Given the description of an element on the screen output the (x, y) to click on. 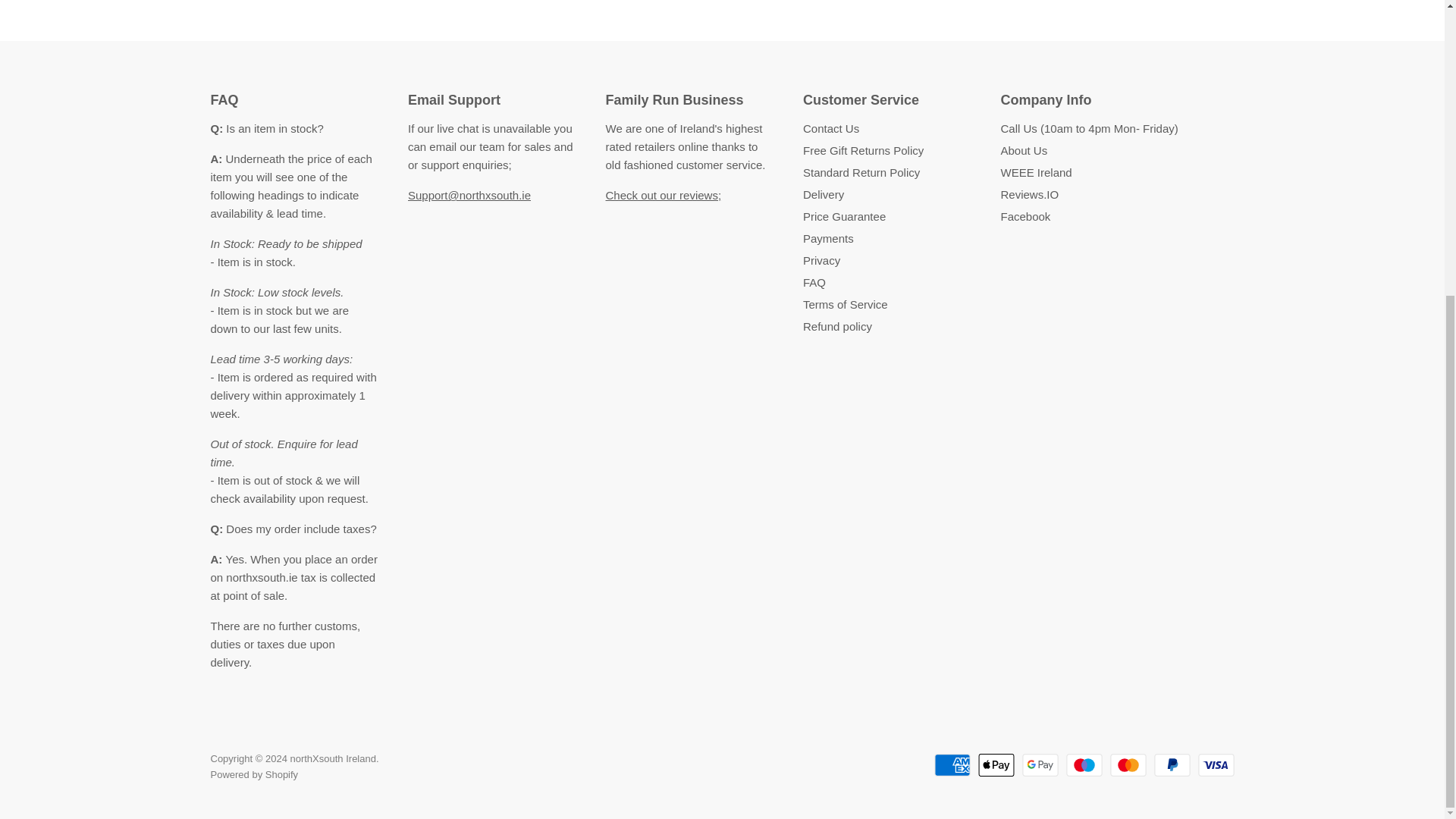
Mastercard (1128, 764)
Maestro (1083, 764)
Visa (1216, 764)
PayPal (1172, 764)
American Express (952, 764)
Apple Pay (996, 764)
Google Pay (1040, 764)
